Given the description of an element on the screen output the (x, y) to click on. 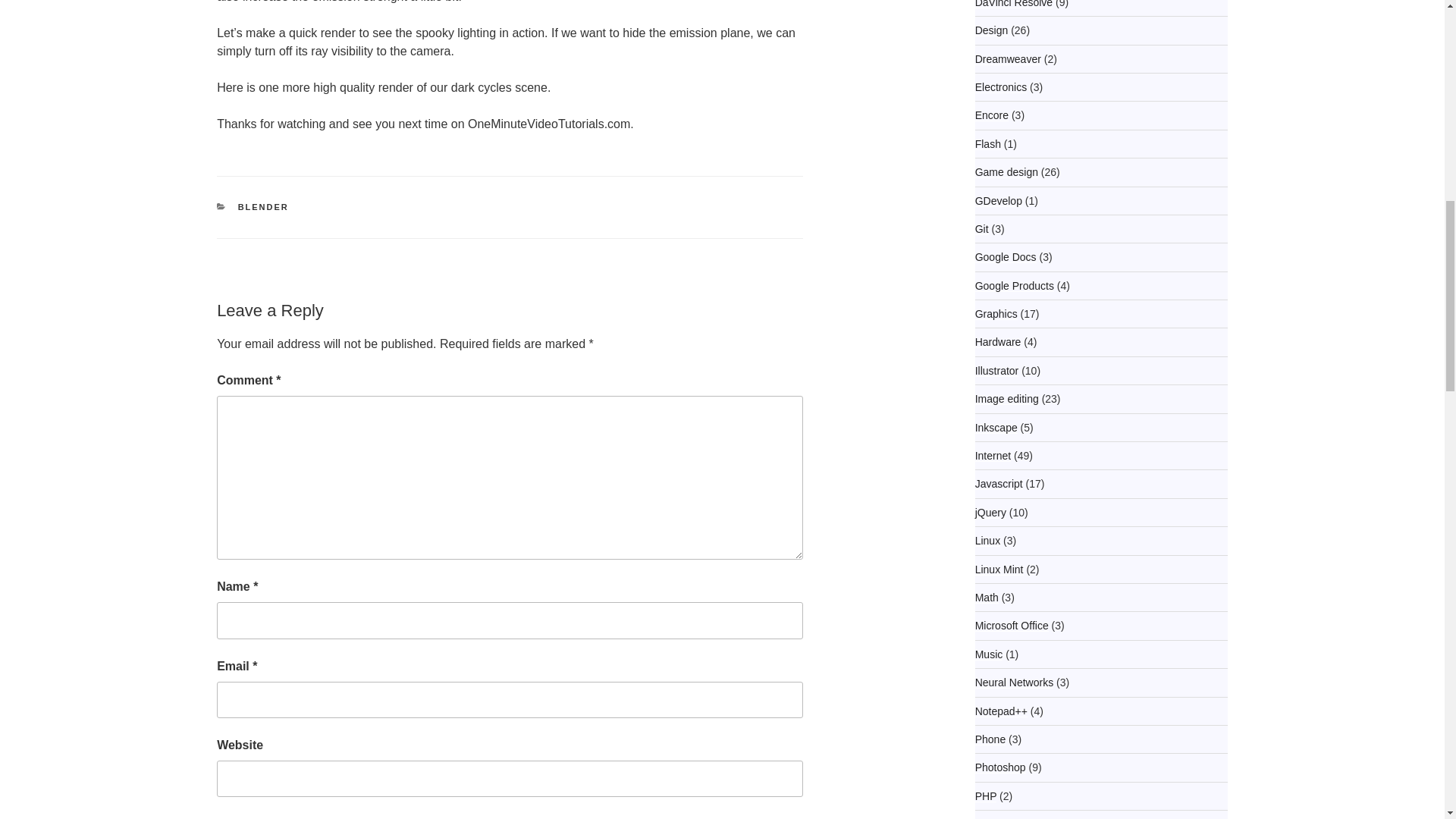
BLENDER (263, 206)
Design (992, 30)
DaVinci Resolve (1013, 4)
